Given the description of an element on the screen output the (x, y) to click on. 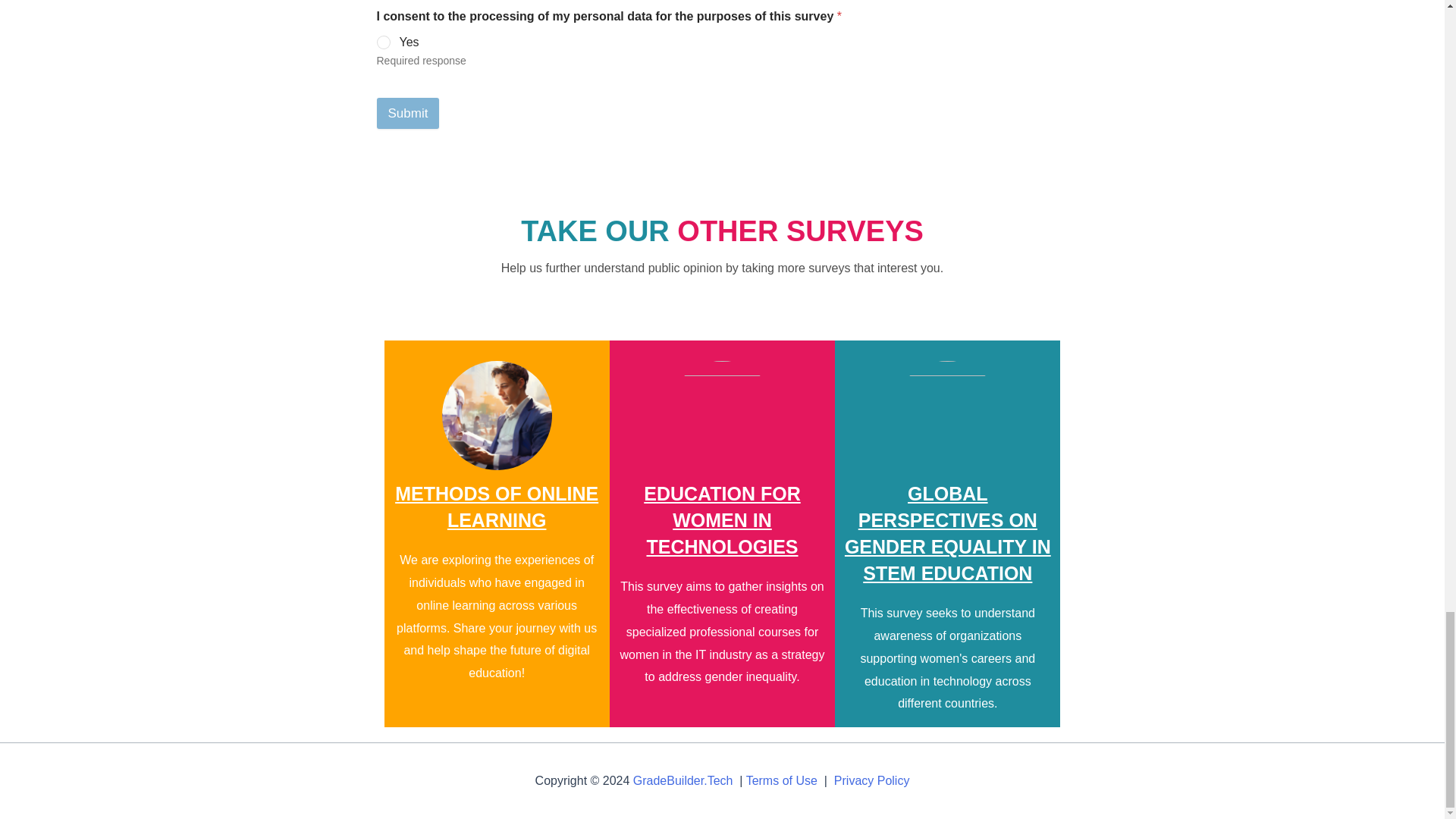
EDUCATION FOR WOMEN IN TECHNOLOGIES (721, 520)
GLOBAL PERSPECTIVES ON GENDER EQUALITY IN STEM EDUCATION (947, 533)
Privacy Policy (872, 780)
Terms of Use (780, 780)
Submit (407, 112)
GradeBuilder.Tech (683, 780)
METHODS OF ONLINE LEARNING (496, 506)
